Given the description of an element on the screen output the (x, y) to click on. 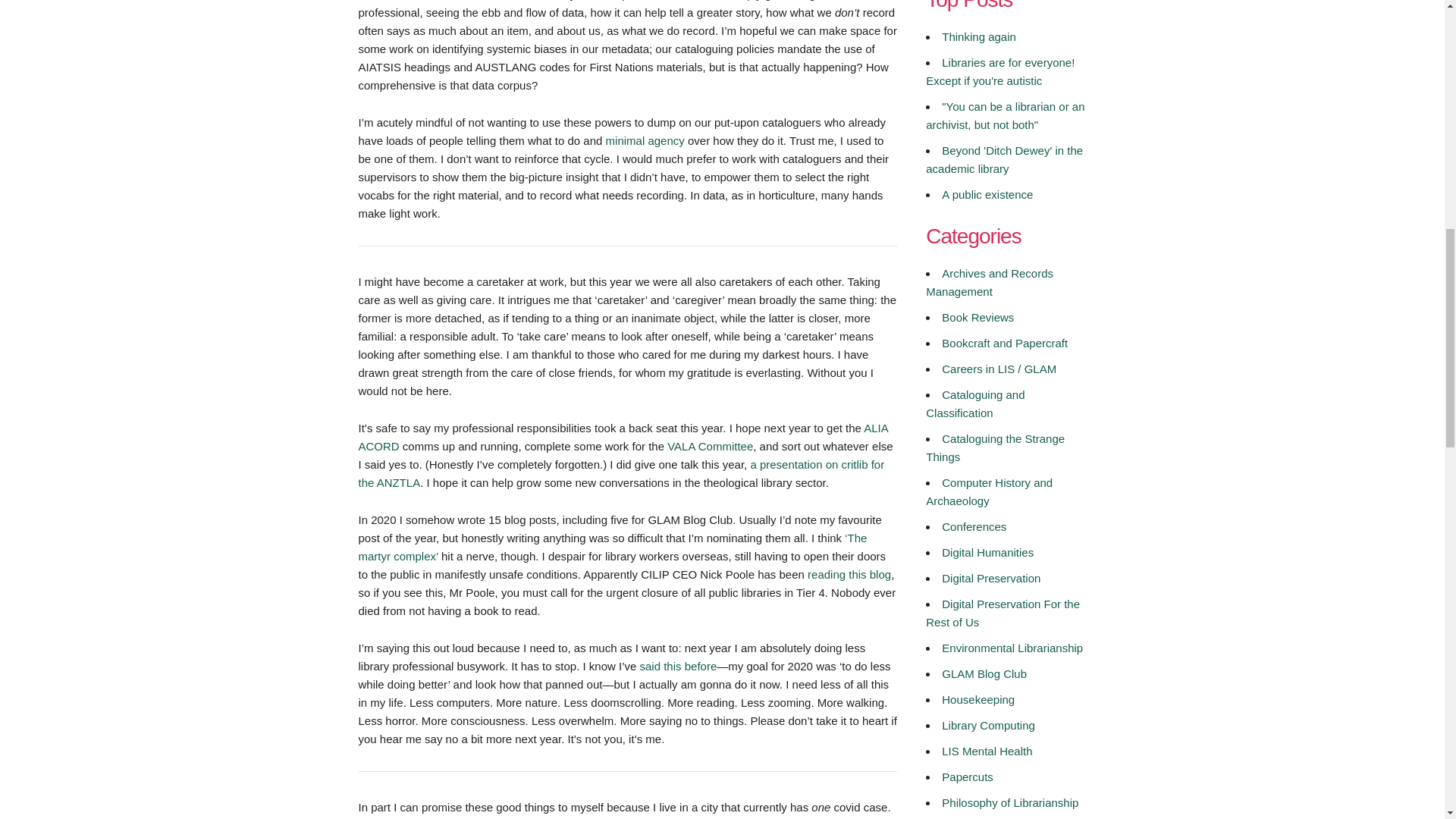
said this before (678, 666)
ALIA ACORD (622, 436)
minimal agency (644, 139)
reading this blog (849, 573)
VALA Committee (709, 445)
a presentation on critlib for the ANZTLA (620, 472)
